Given the description of an element on the screen output the (x, y) to click on. 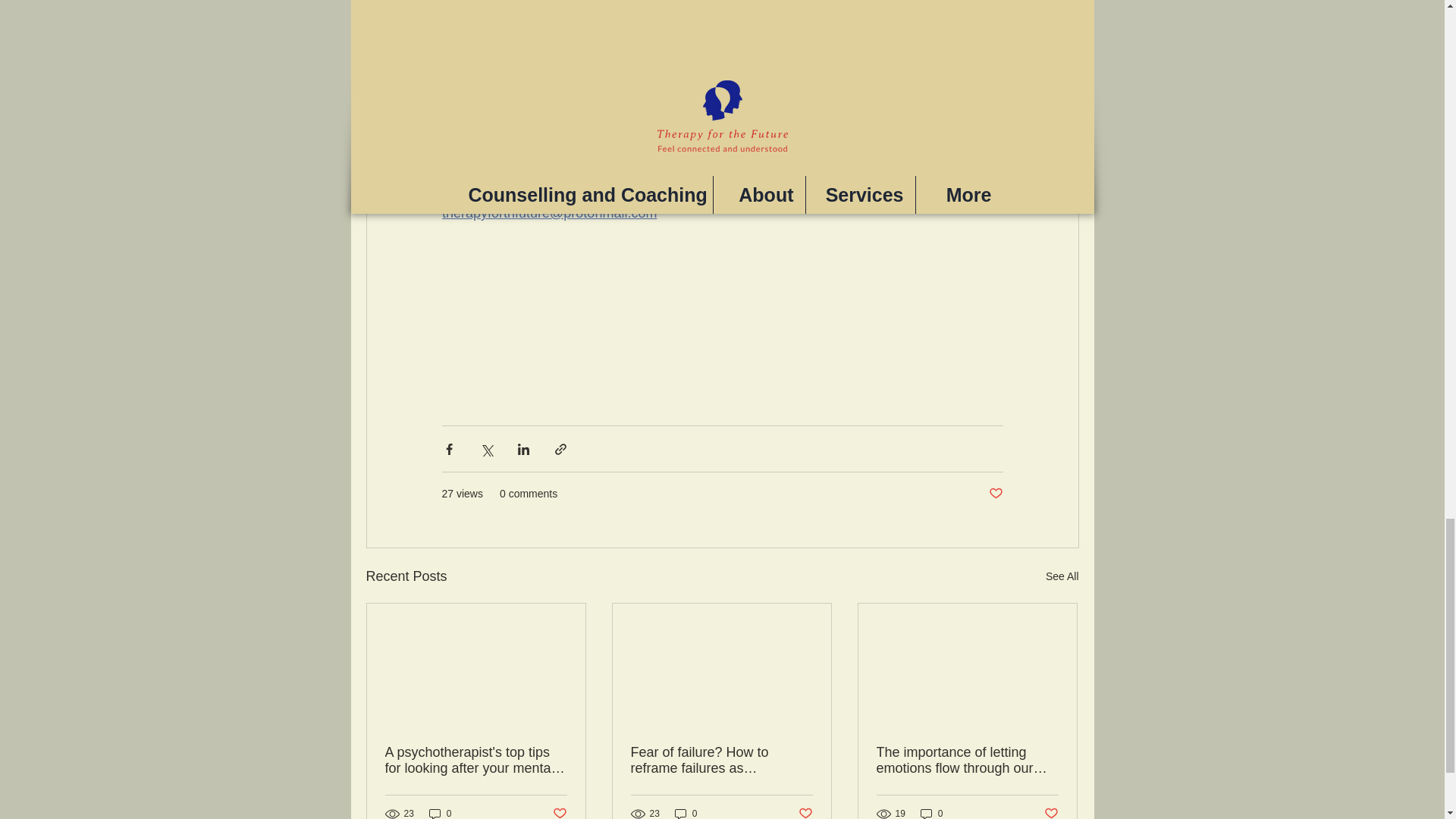
Post not marked as liked (1050, 812)
0 (440, 812)
0 (931, 812)
See All (1061, 576)
Post not marked as liked (558, 812)
Post not marked as liked (995, 494)
Post not marked as liked (804, 812)
0 (685, 812)
